Given the description of an element on the screen output the (x, y) to click on. 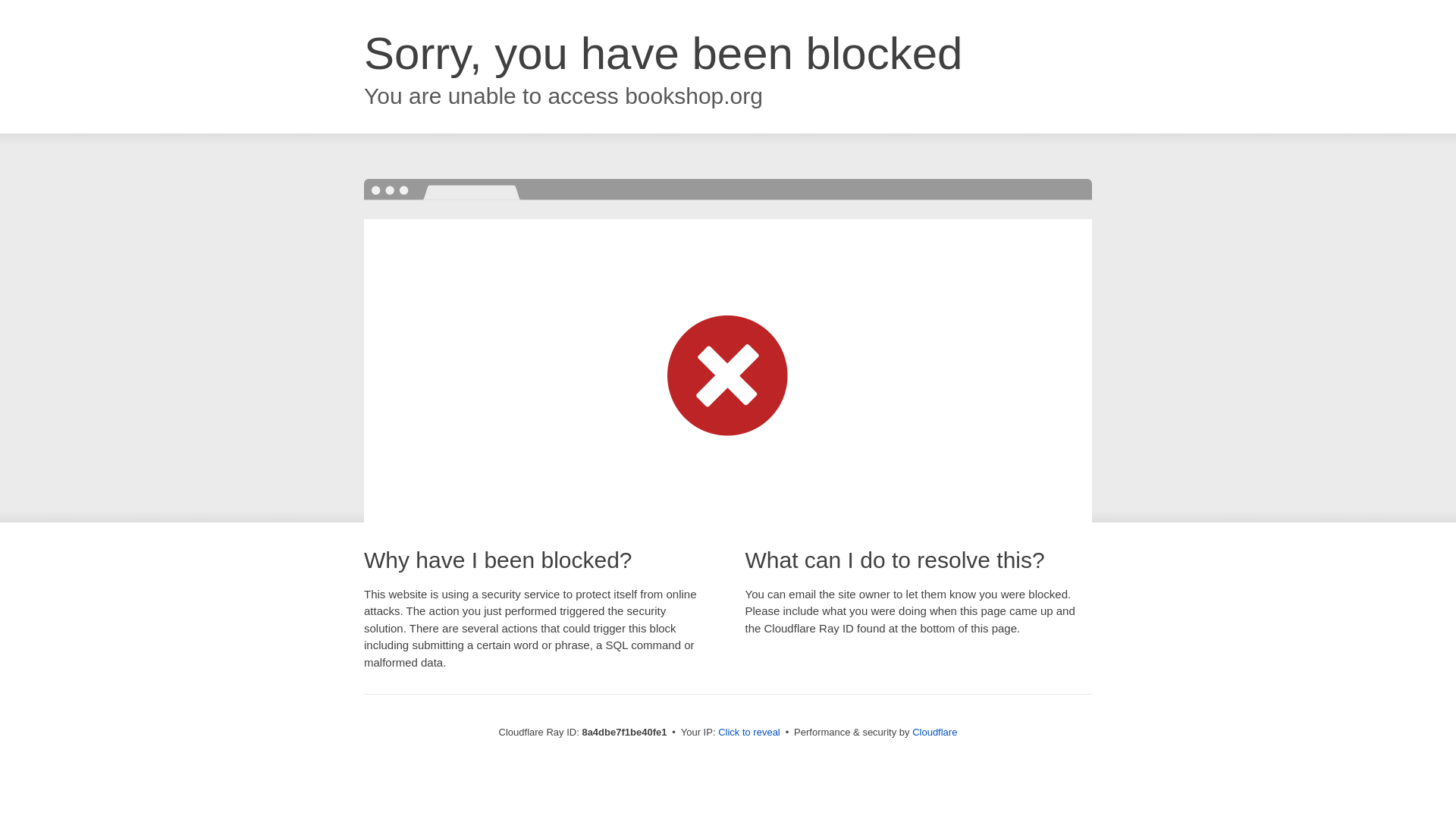
Cloudflare (934, 731)
Click to reveal (748, 732)
